Given the description of an element on the screen output the (x, y) to click on. 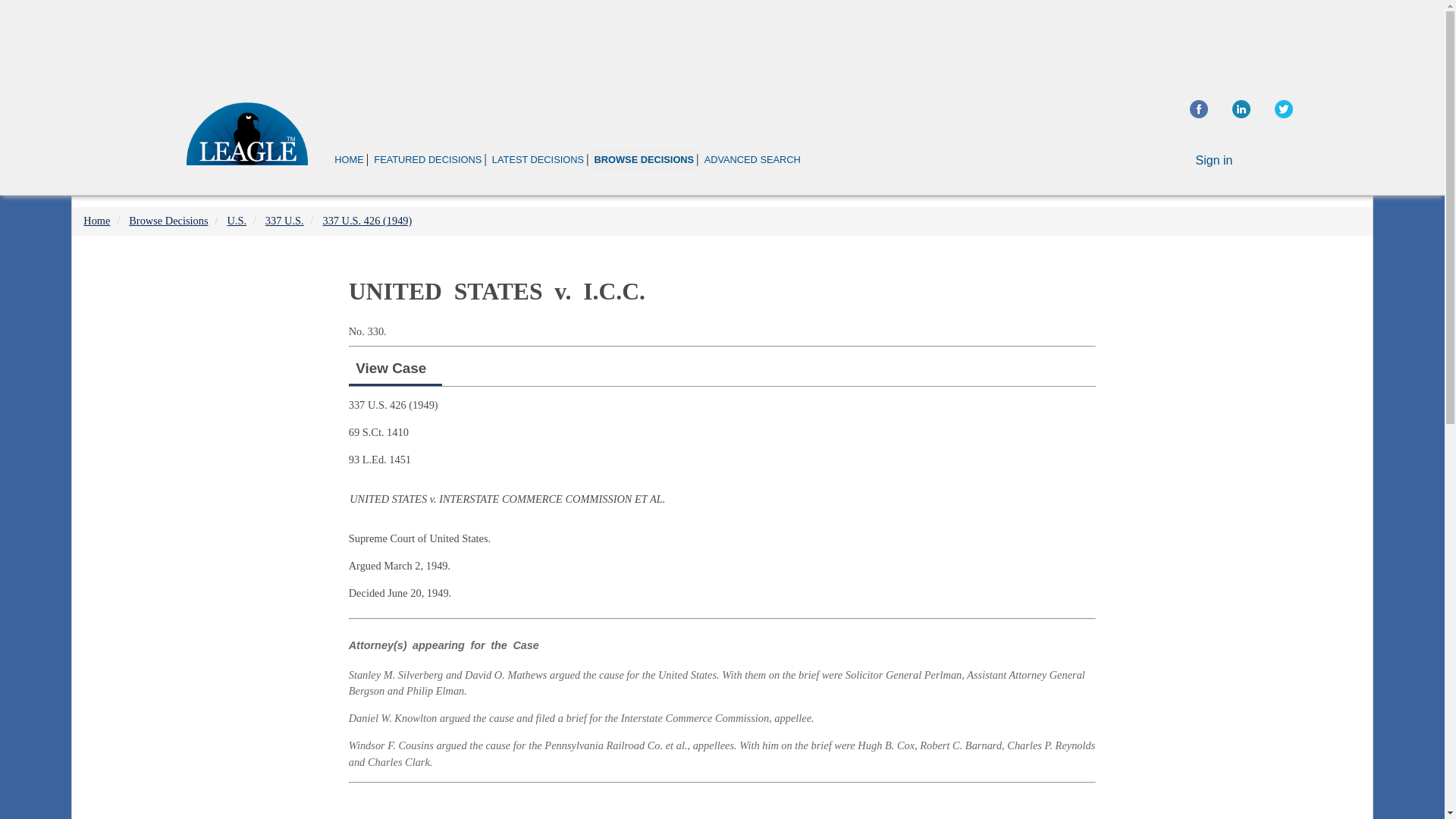
Advertisement (721, 41)
ADVANCED SEARCH (752, 159)
HOME (348, 159)
337 U.S. (284, 220)
Advertisement (722, 803)
LATEST DECISIONS (537, 159)
Sign in (1214, 160)
Advertisement (1242, 356)
U.S. (236, 220)
FEATURED DECISIONS (427, 159)
